Given the description of an element on the screen output the (x, y) to click on. 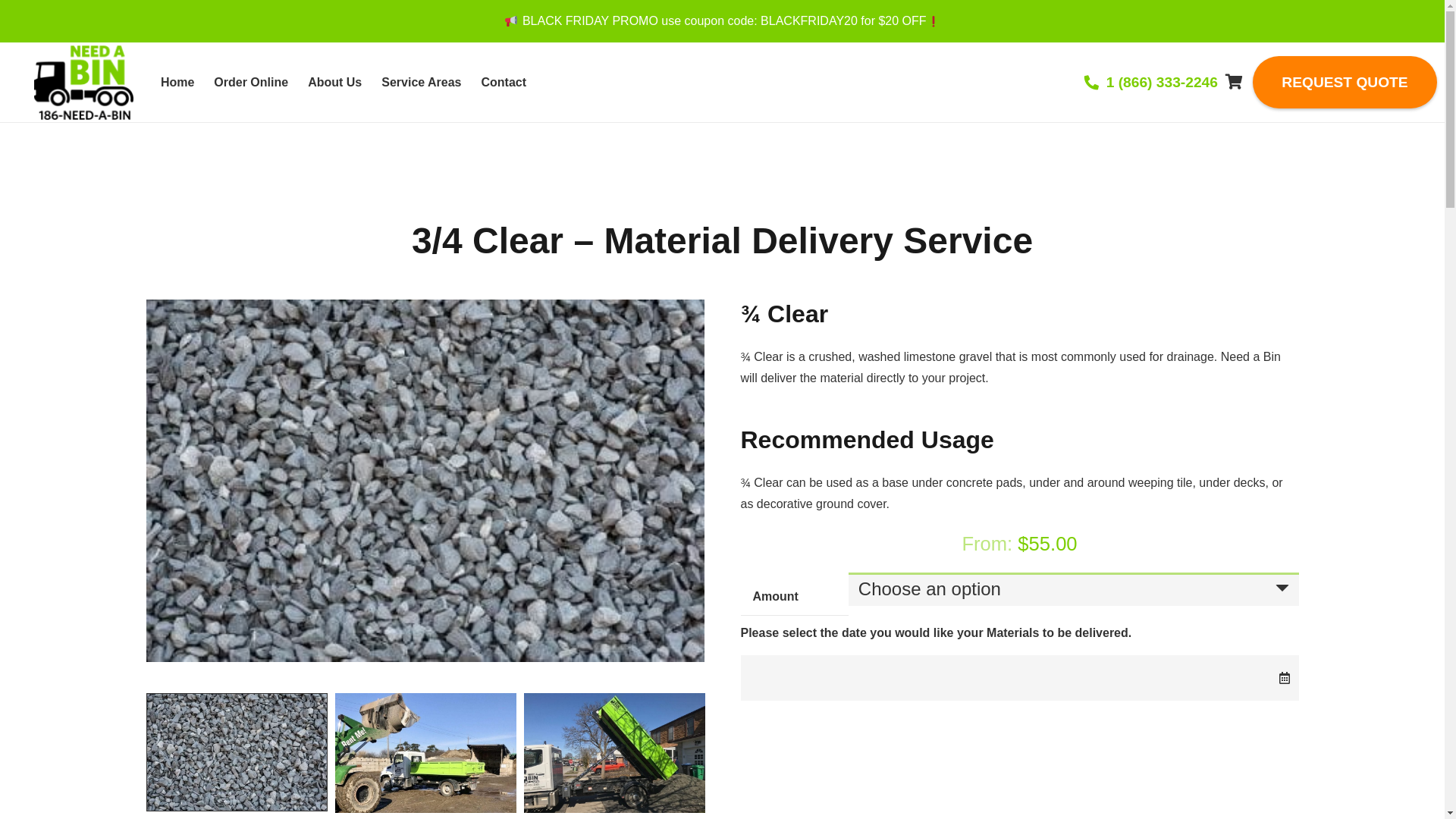
1 (866) 333-2246 Element type: text (1150, 81)
0 Element type: text (1234, 82)
three-quarter-clear-material-delivery-need-a-bin Element type: hover (424, 480)
Contact Element type: text (503, 82)
REQUEST QUOTE Element type: text (1344, 82)
Order Online Element type: text (250, 82)
About Us Element type: text (334, 82)
Home Element type: text (176, 82)
Service Areas Element type: text (420, 82)
